Given the description of an element on the screen output the (x, y) to click on. 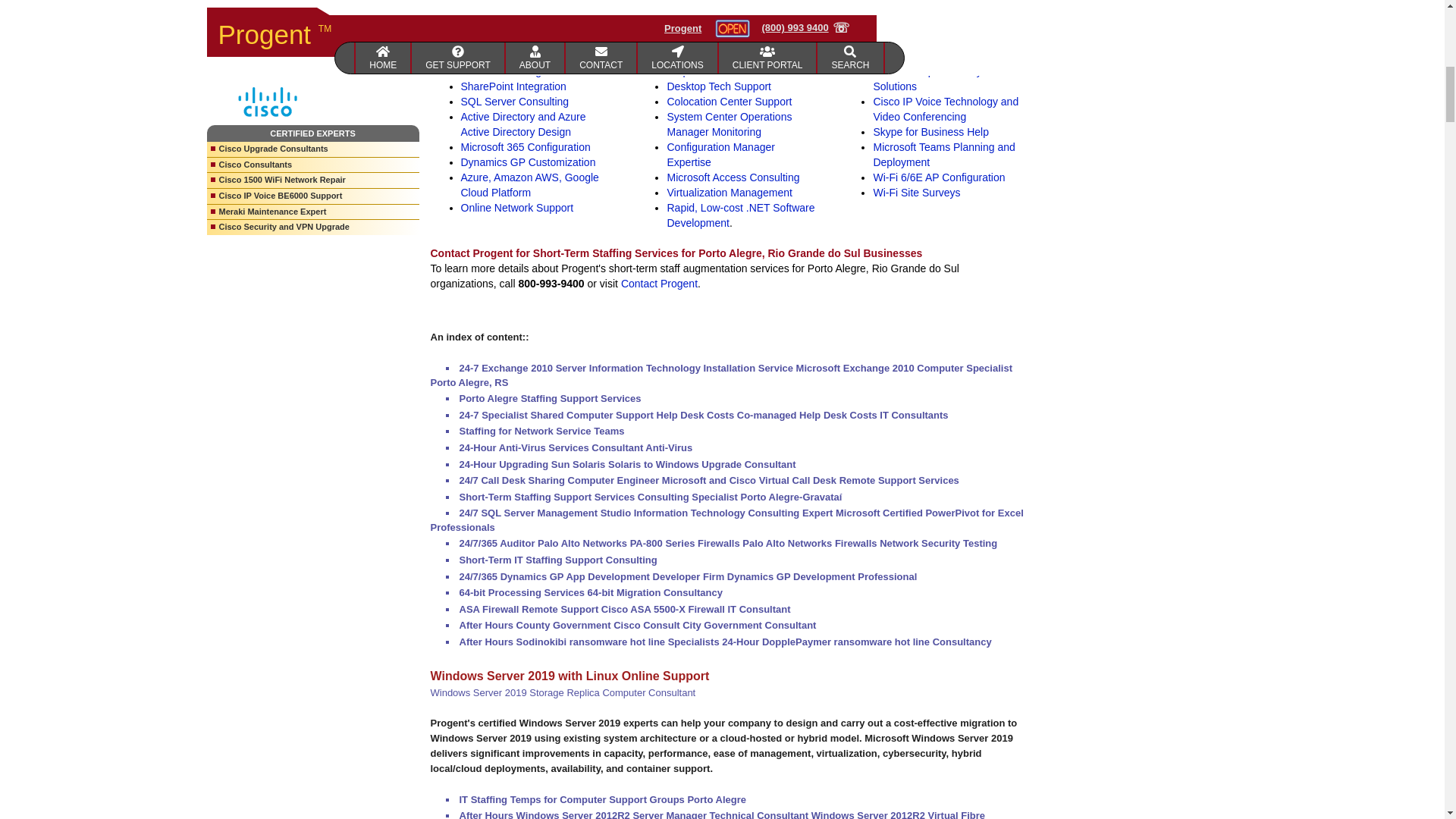
Microsoft Windows Server 2019 Consulting (512, 1)
